Given the description of an element on the screen output the (x, y) to click on. 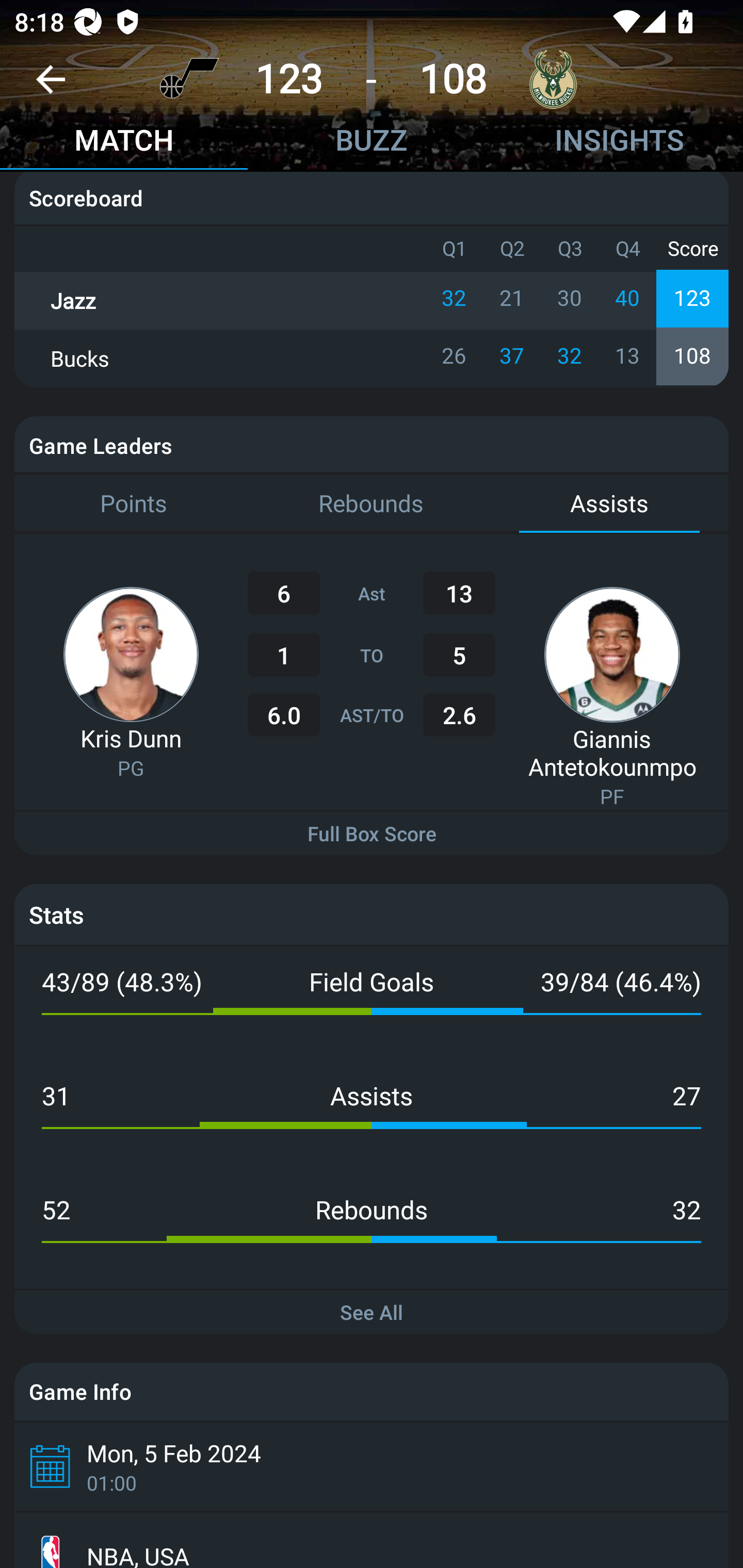
Navigate up (50, 86)
123 (288, 78)
108 (453, 78)
MATCH (123, 142)
BUZZ (371, 142)
INSIGHTS (619, 142)
Points (133, 504)
Rebounds (371, 504)
Kris Dunn (131, 738)
Giannis Antetokounmpo (611, 752)
Full Box Score (371, 833)
43/89 (48.3%) Field Goals 39/84 (46.4%) 48.0 46.0 (371, 1003)
31 Assists 27 52.0 47.0 (371, 1116)
52 Rebounds 32 62.0 38.0 (371, 1231)
See All (371, 1312)
Game Info (371, 1391)
NBA, USA (371, 1540)
